Given the description of an element on the screen output the (x, y) to click on. 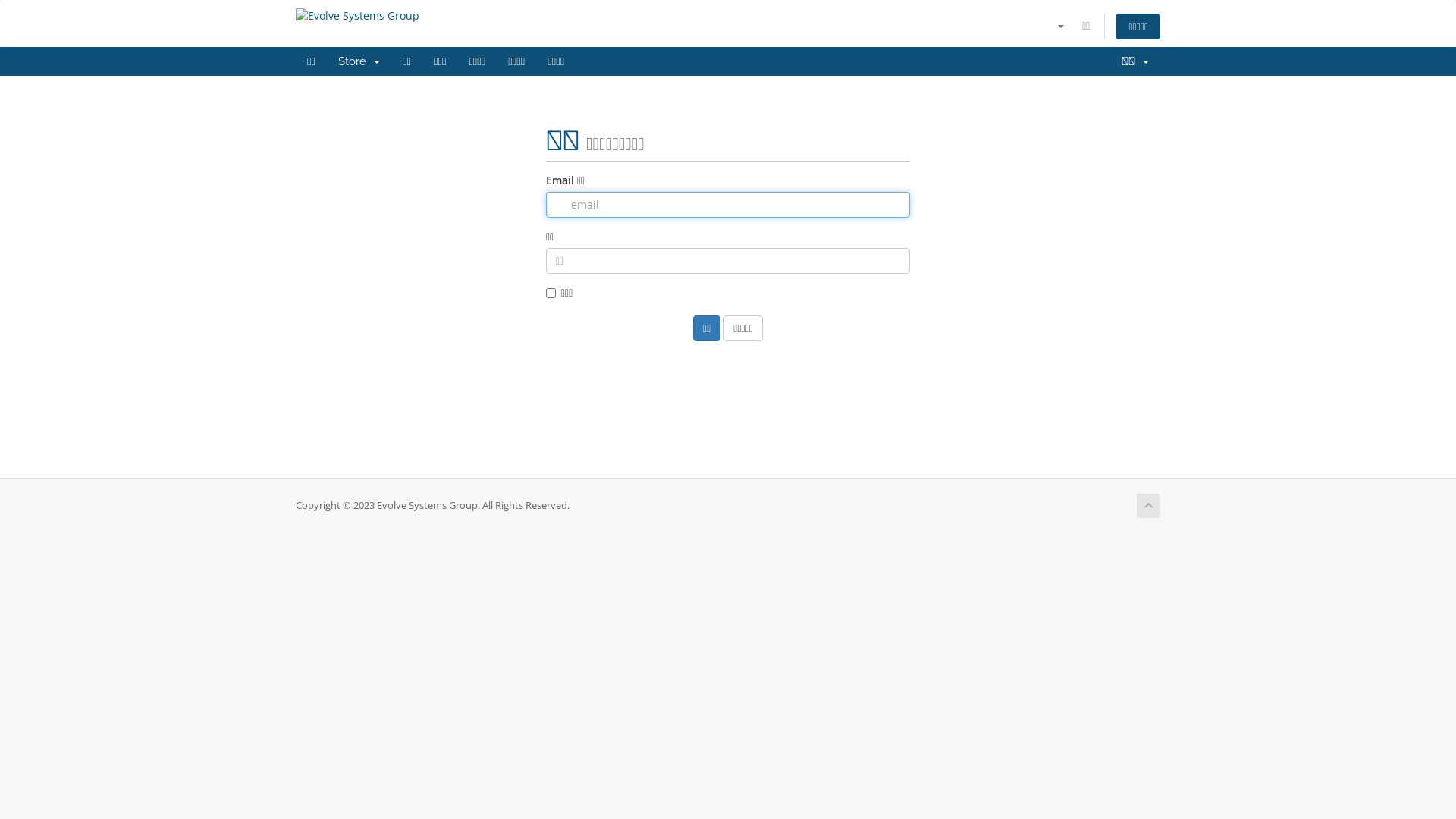
Store   Element type: text (358, 61)
